Given the description of an element on the screen output the (x, y) to click on. 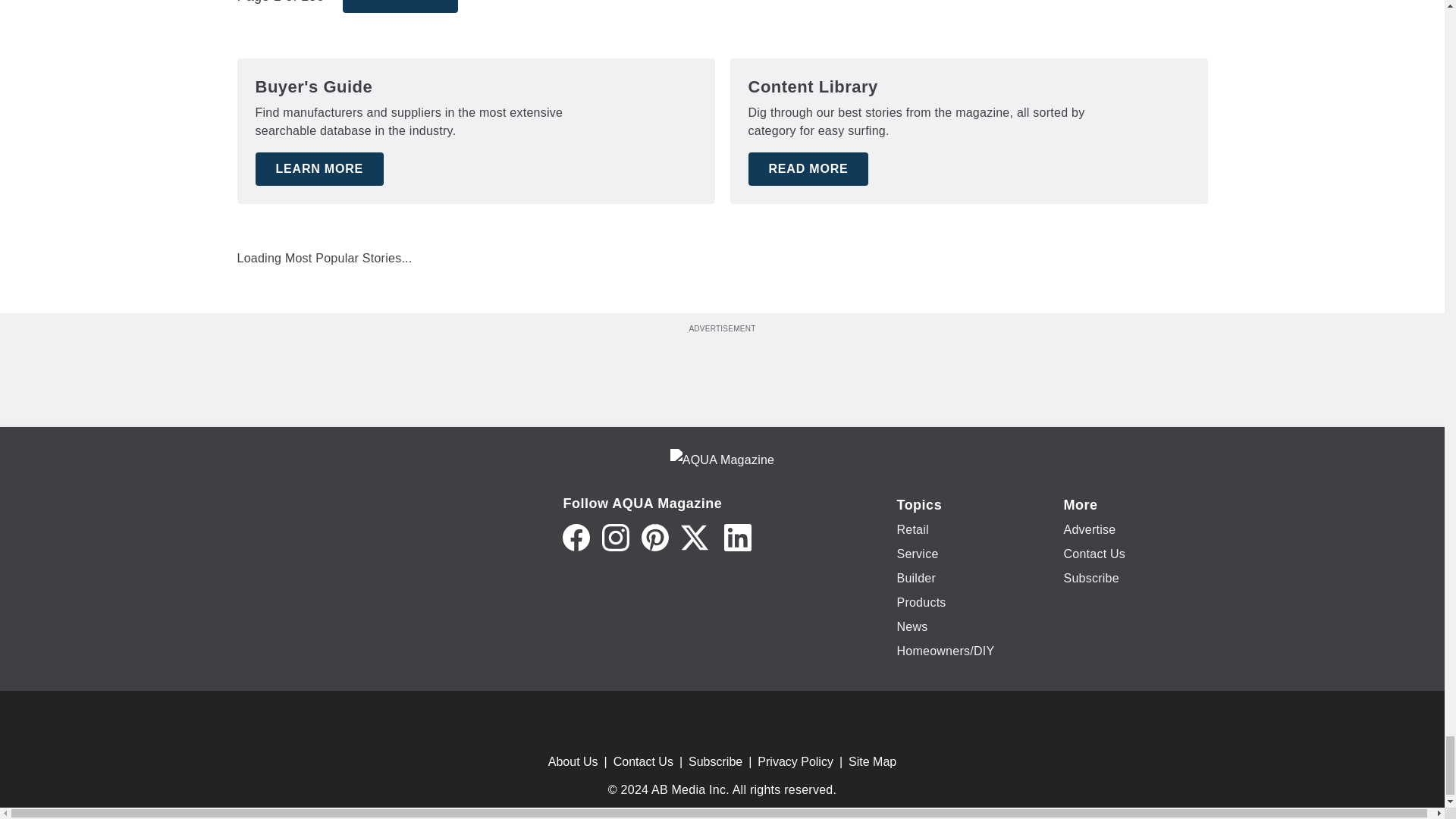
Pinterest icon (655, 537)
LinkedIn icon (737, 537)
Facebook icon (575, 537)
Twitter X icon (694, 537)
Instagram icon (615, 537)
